Given the description of an element on the screen output the (x, y) to click on. 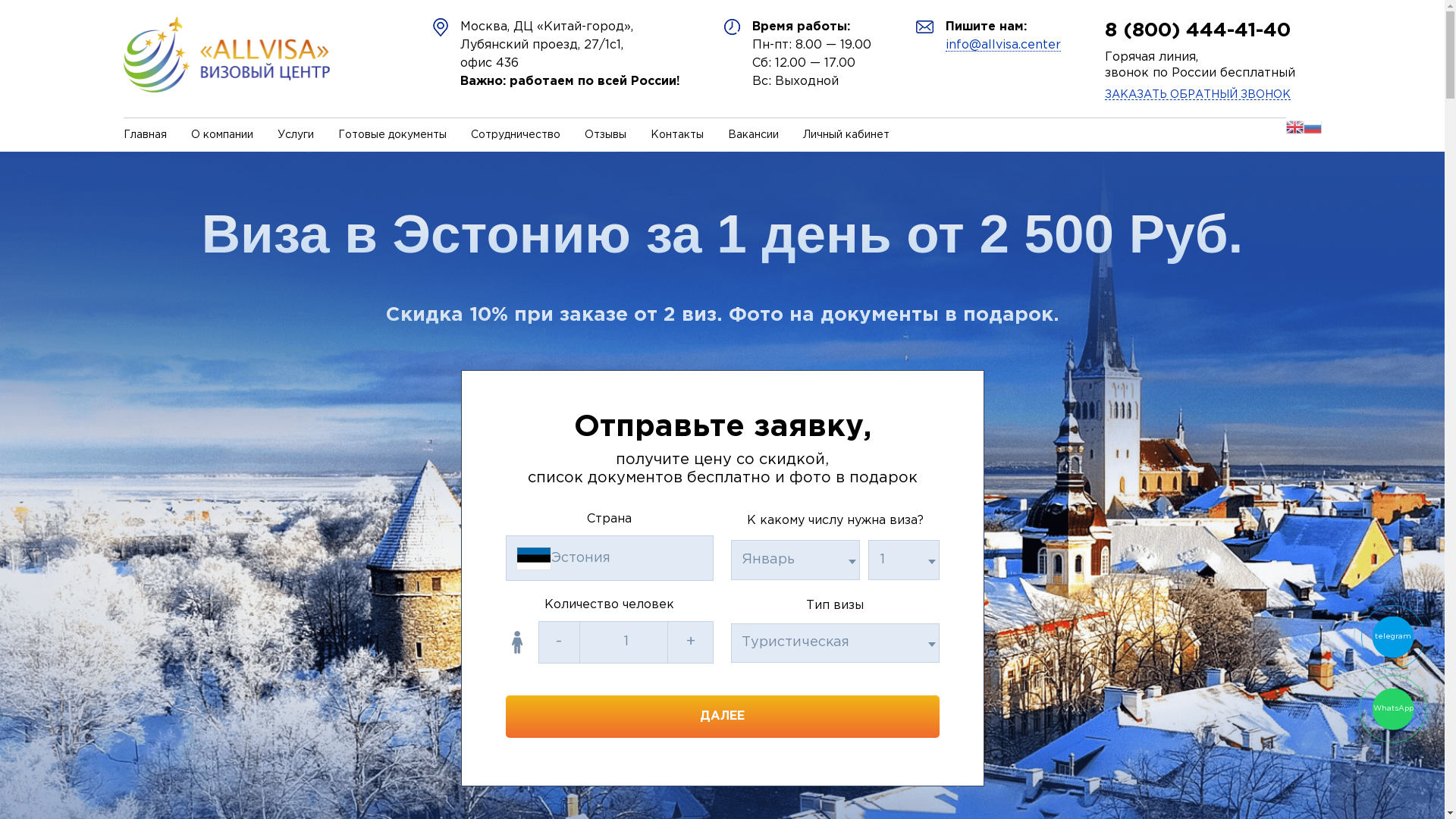
English Element type: hover (1294, 133)
Russian Element type: hover (1312, 133)
8 (800) 444-41-40 Element type: text (1197, 30)
info@allvisa.center Element type: text (1002, 45)
